Given the description of an element on the screen output the (x, y) to click on. 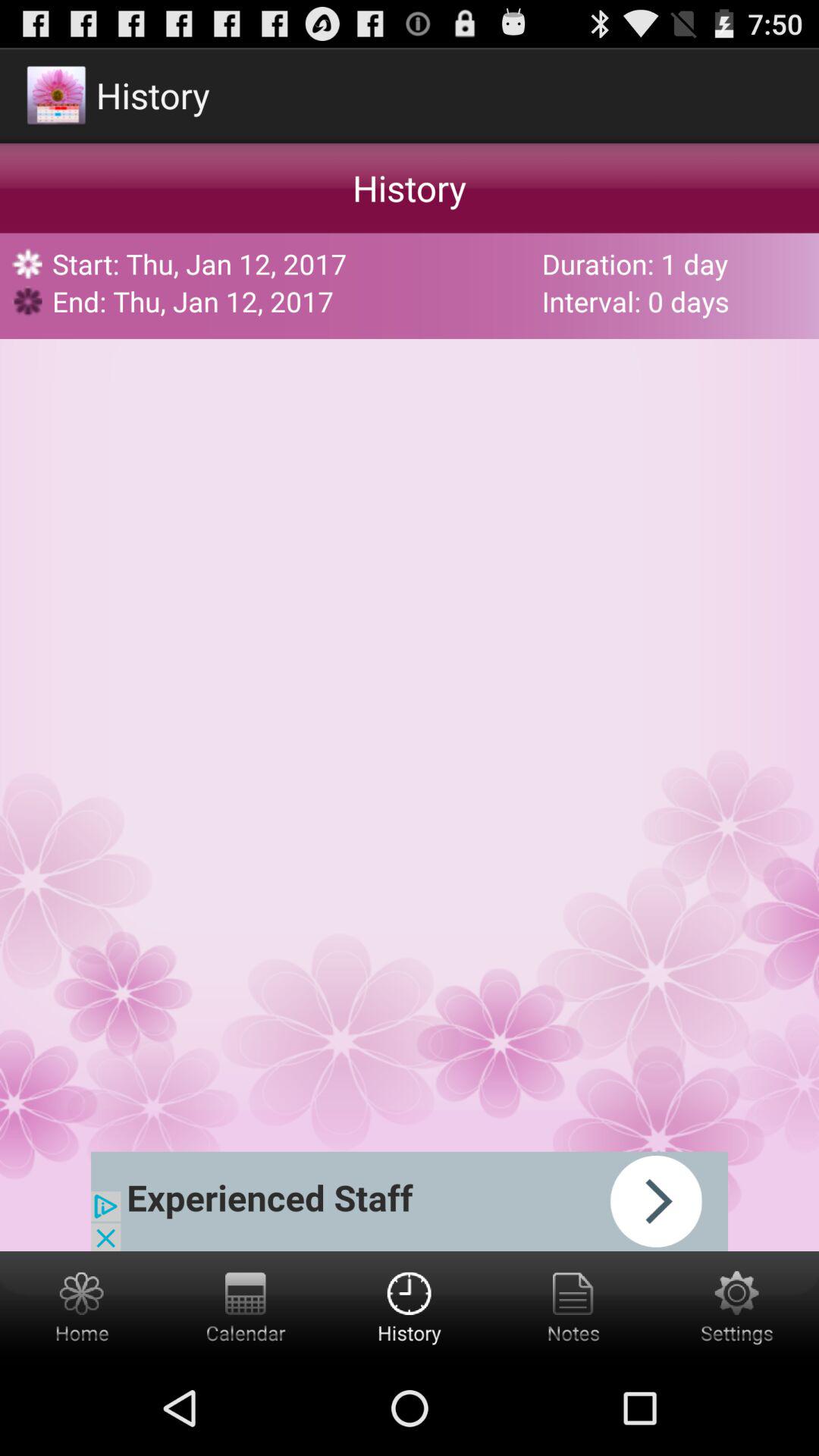
settings (737, 1305)
